Given the description of an element on the screen output the (x, y) to click on. 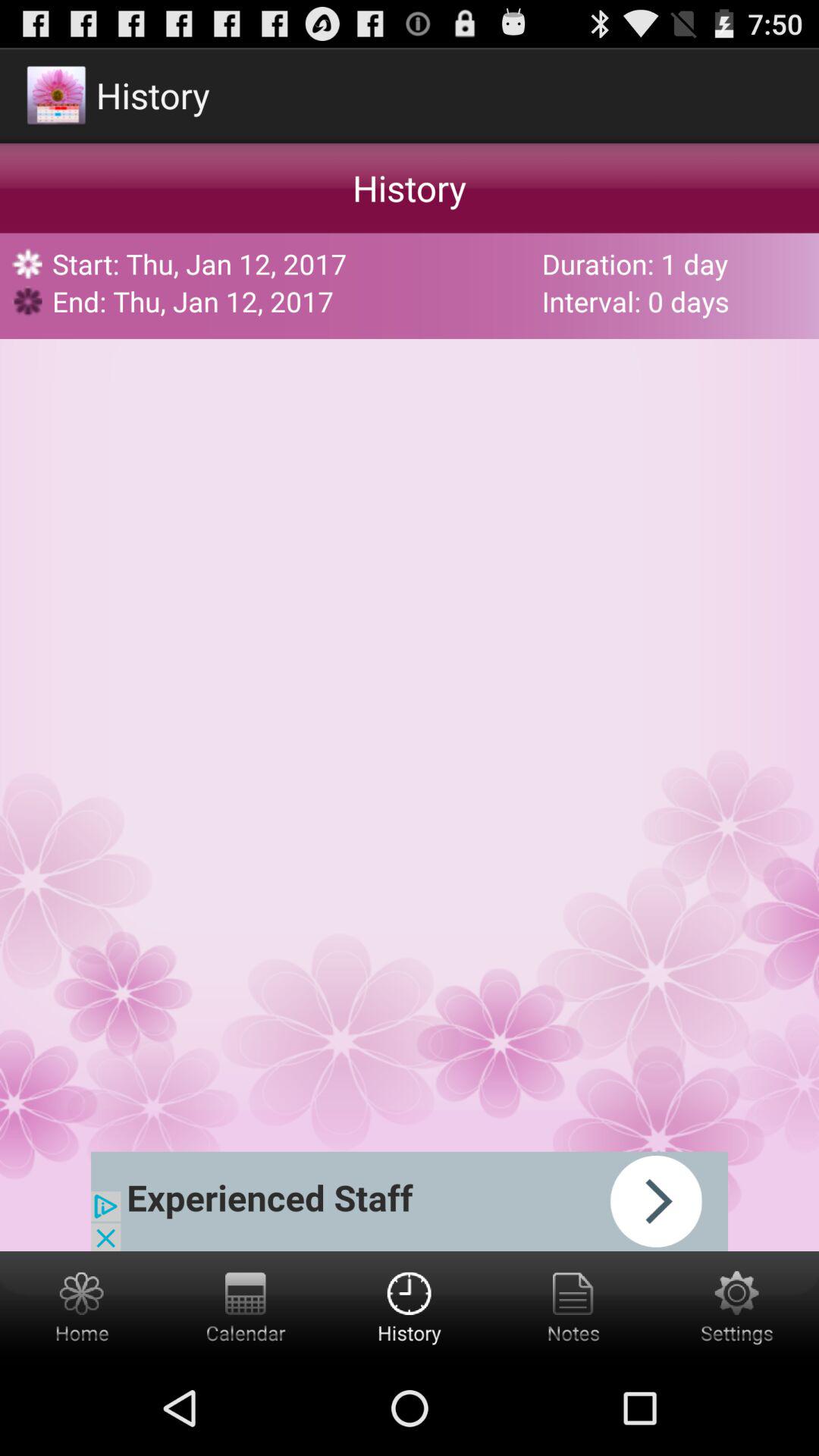
settings (737, 1305)
